Given the description of an element on the screen output the (x, y) to click on. 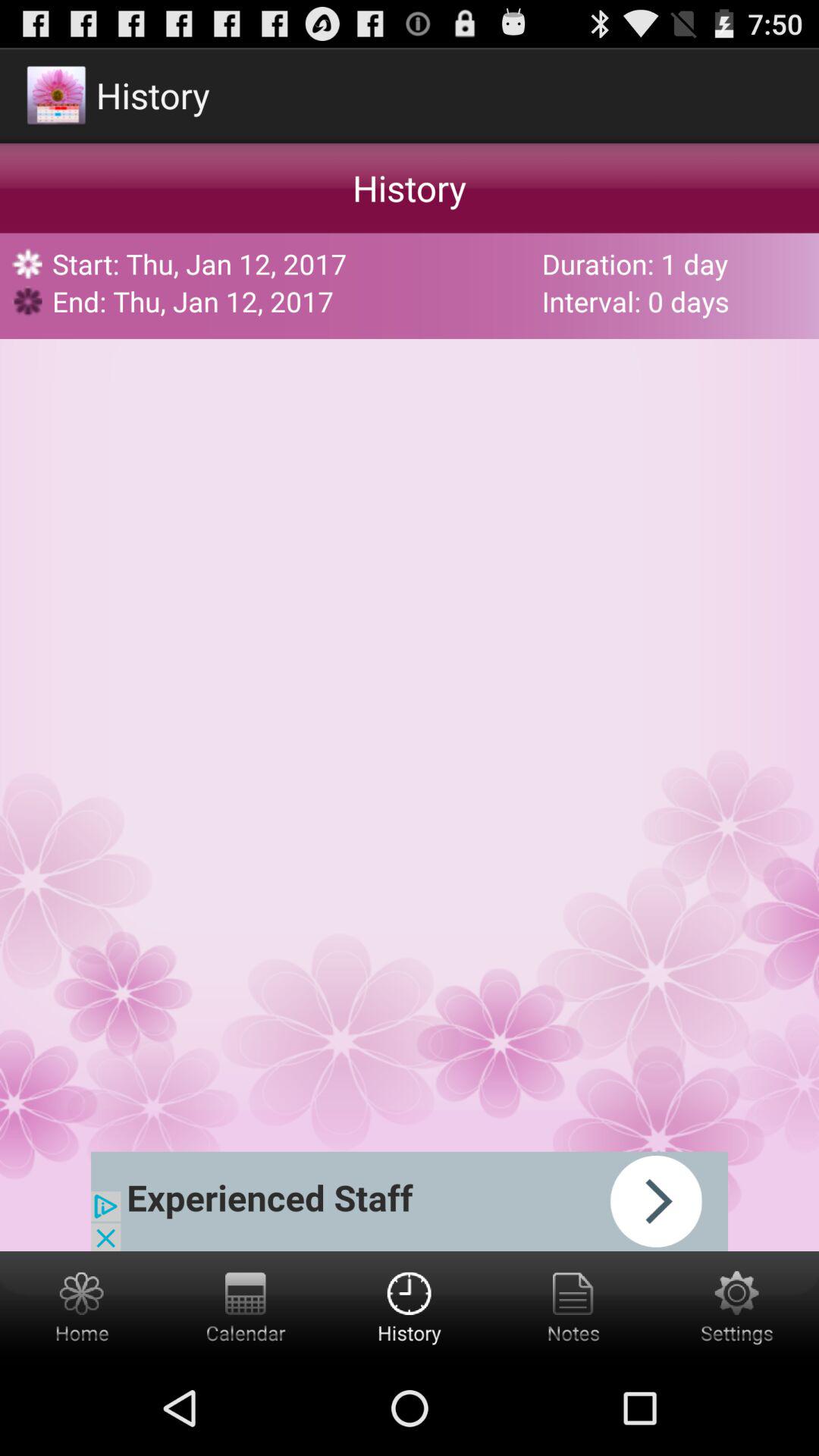
settings (737, 1305)
